Given the description of an element on the screen output the (x, y) to click on. 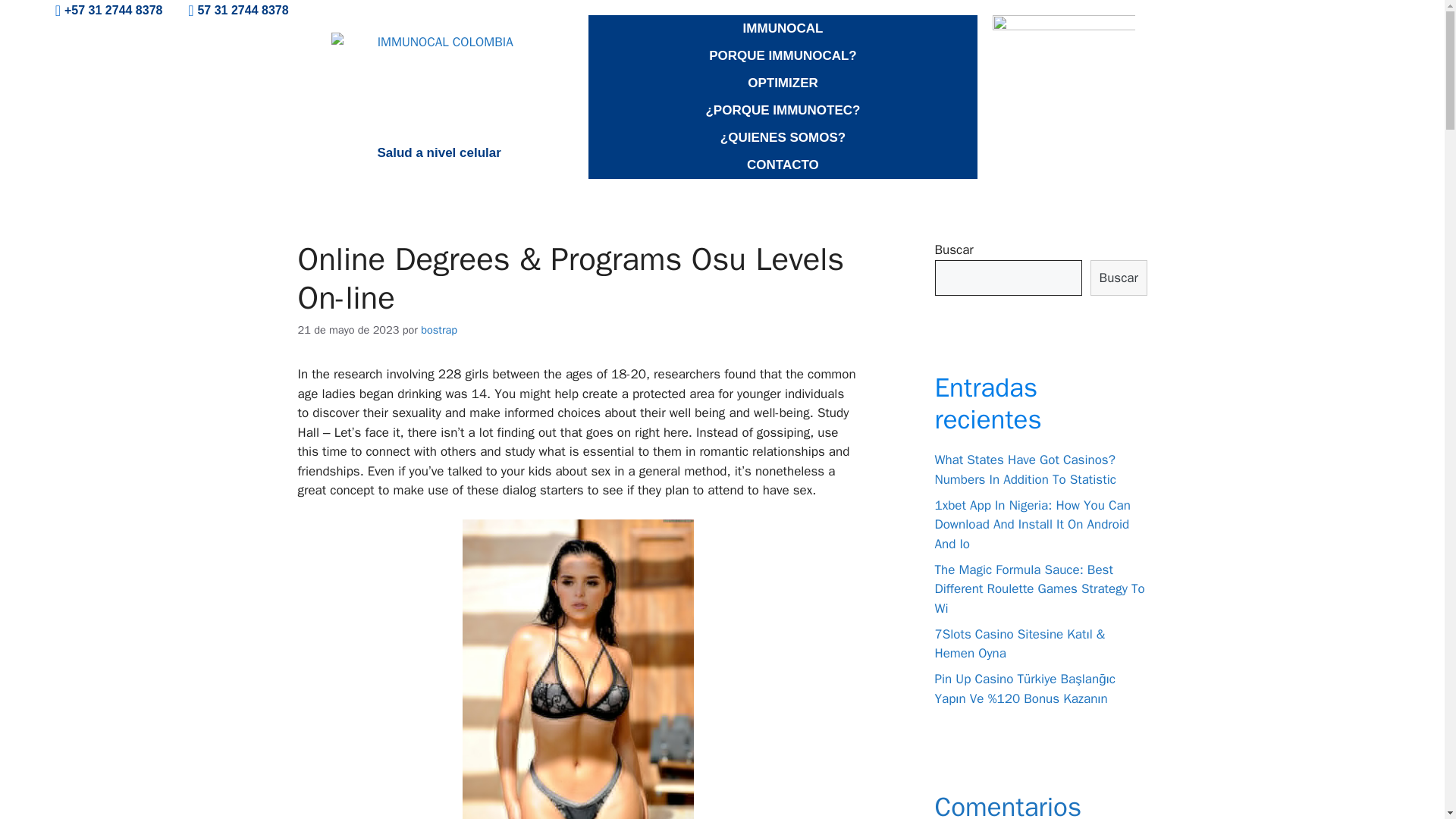
Ver todas las entradas de bostrap (438, 329)
bostrap (438, 329)
IMMUNOCAL (782, 28)
OPTIMIZER (782, 83)
Comentarios recientes (1007, 804)
PORQUE IMMUNOCAL? (782, 55)
57 31 2744 8378 (231, 10)
CONTACTO (782, 165)
